Given the description of an element on the screen output the (x, y) to click on. 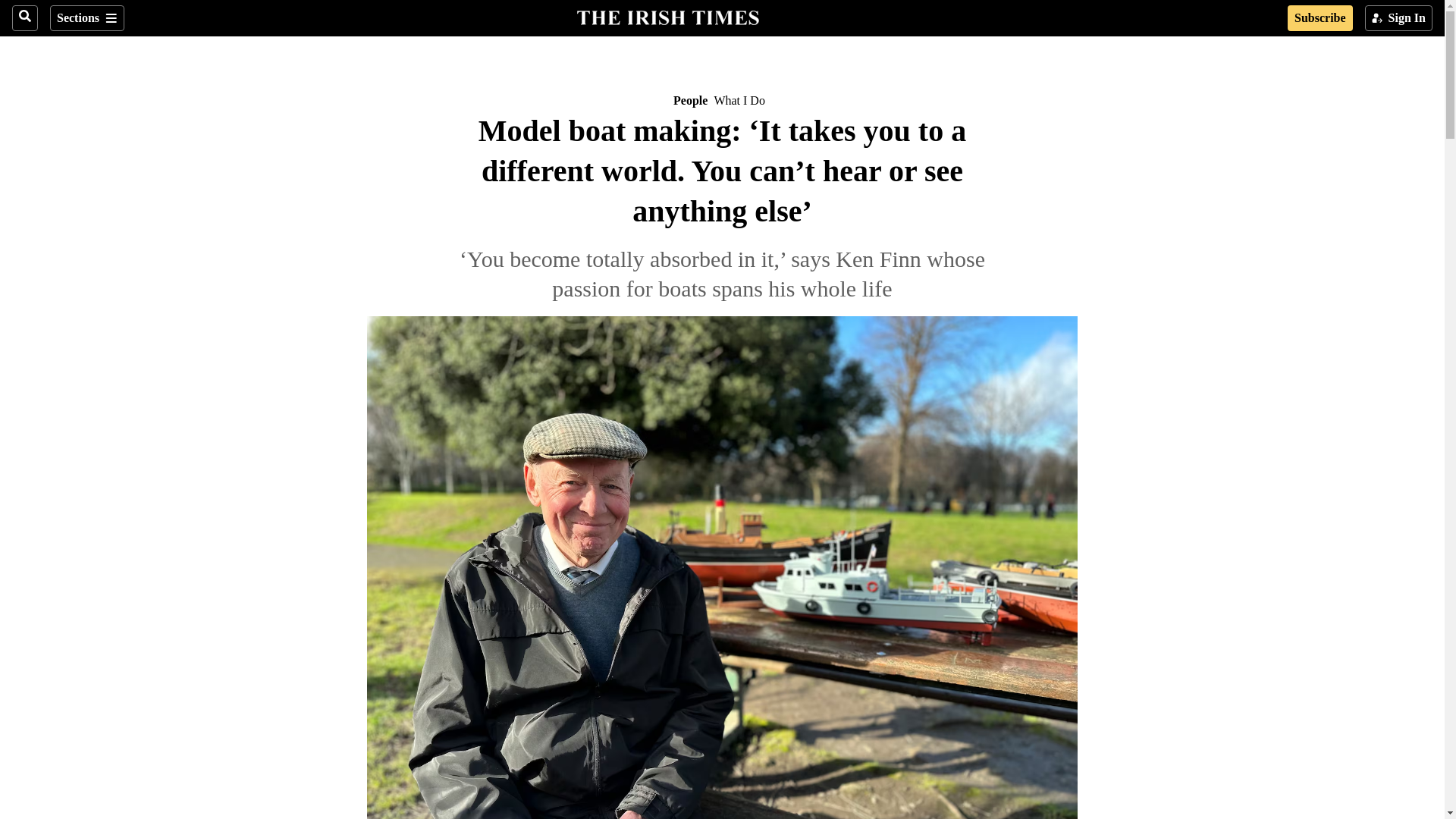
Subscribe (1319, 17)
Sections (86, 17)
Sign In (1398, 17)
The Irish Times (667, 16)
